Given the description of an element on the screen output the (x, y) to click on. 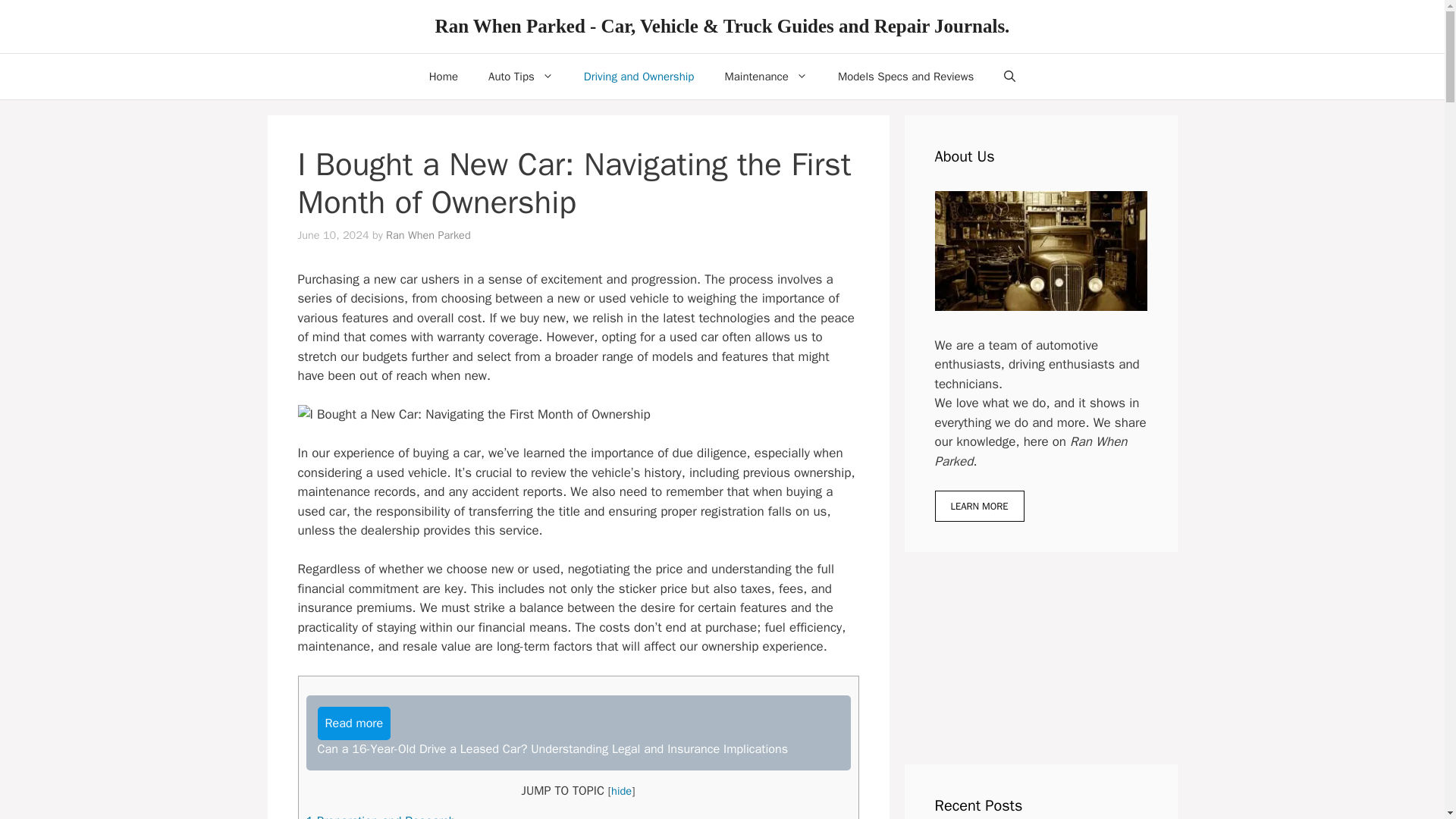
Driving and Ownership (639, 76)
I Bought a New Car: Navigating the First Month of Ownership (473, 414)
Models Specs and Reviews (905, 76)
Auto Tips (521, 76)
Home (443, 76)
Maintenance (765, 76)
View all posts by Ran When Parked (427, 234)
Ran When Parked (427, 234)
1 Preparation and Research (380, 816)
